Given the description of an element on the screen output the (x, y) to click on. 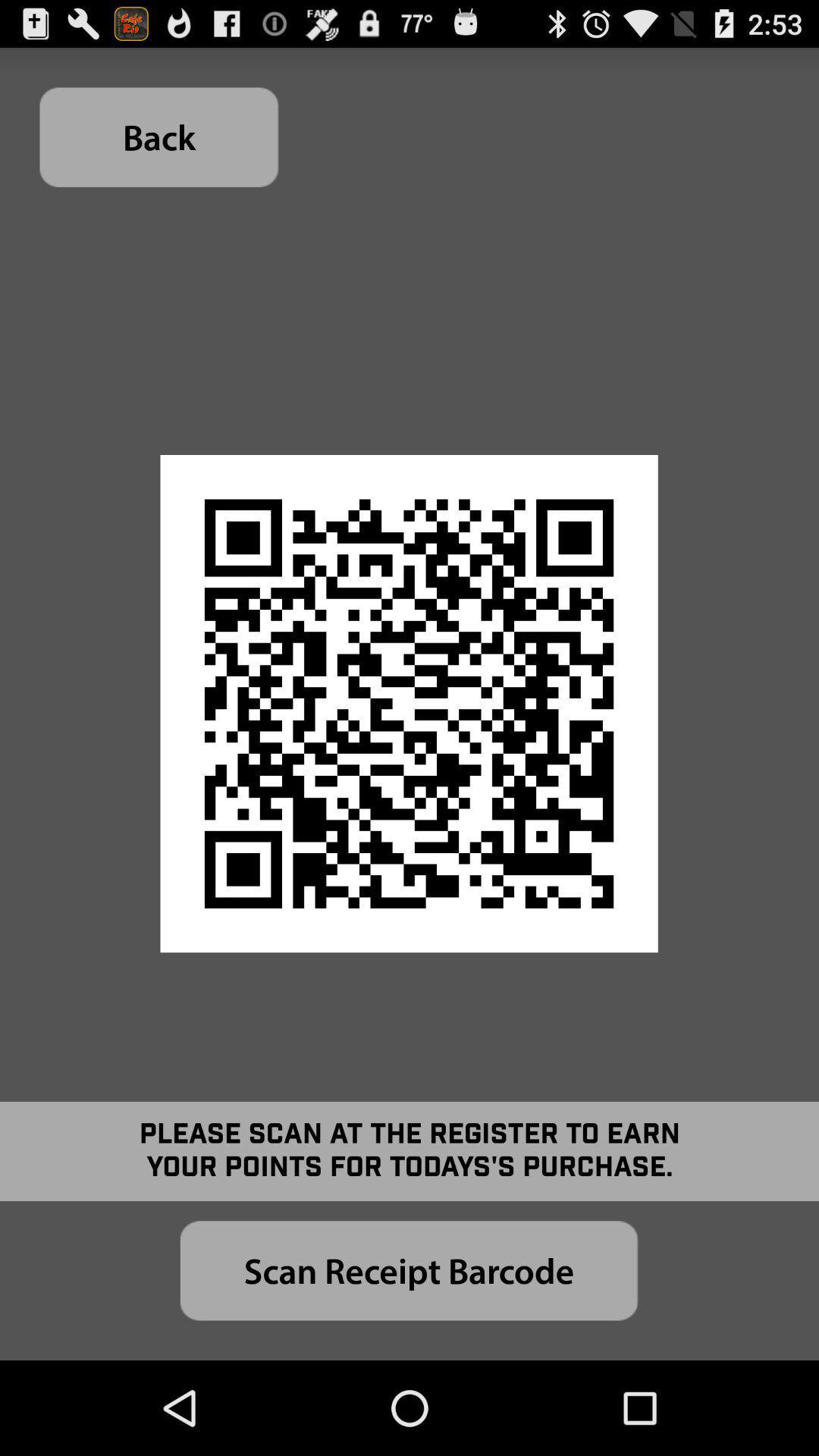
click the item at the top left corner (158, 137)
